Given the description of an element on the screen output the (x, y) to click on. 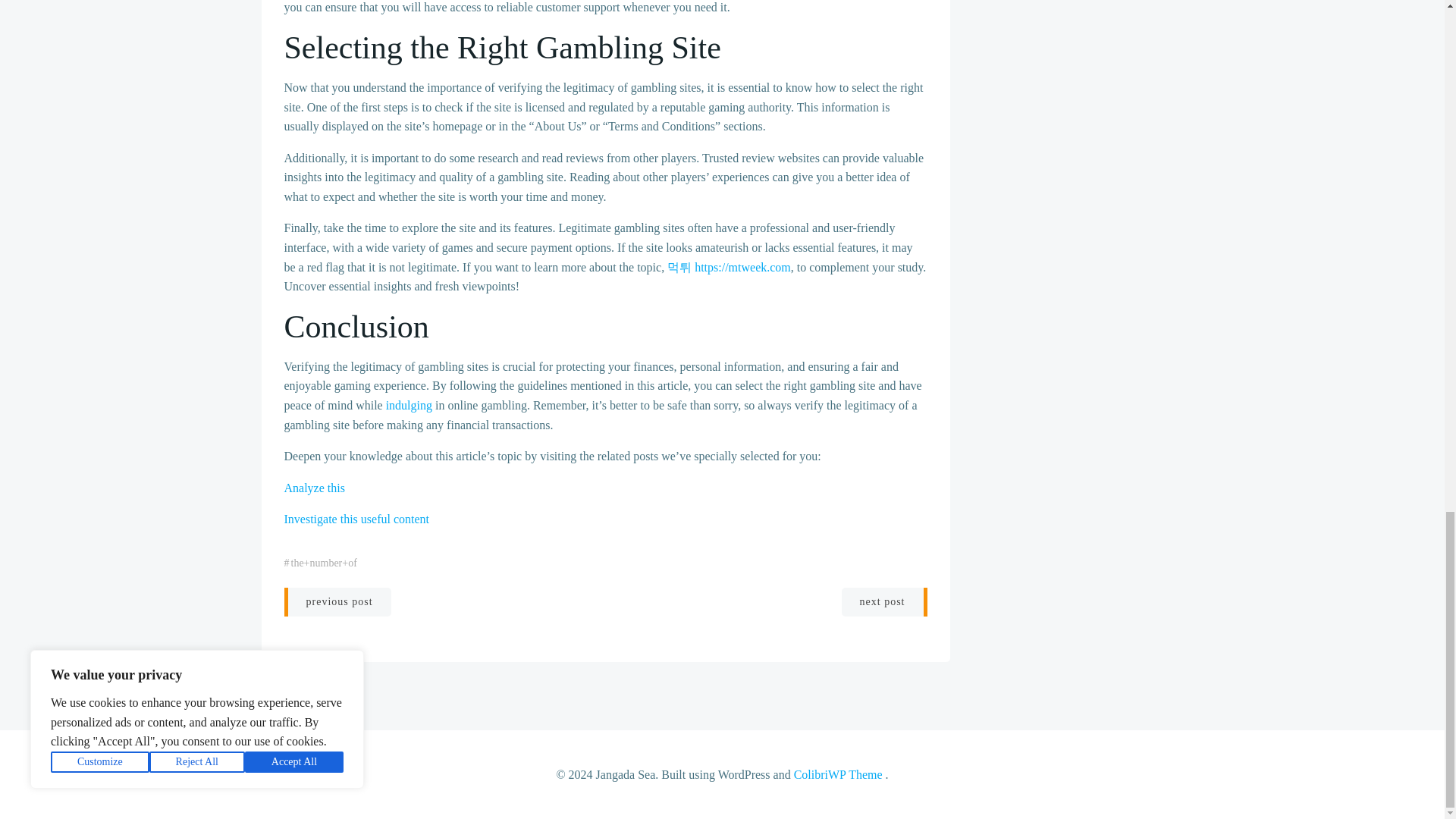
next post (884, 602)
indulging (408, 404)
Analyze this (313, 487)
Investigate this useful content (356, 518)
previous post (336, 602)
